Given the description of an element on the screen output the (x, y) to click on. 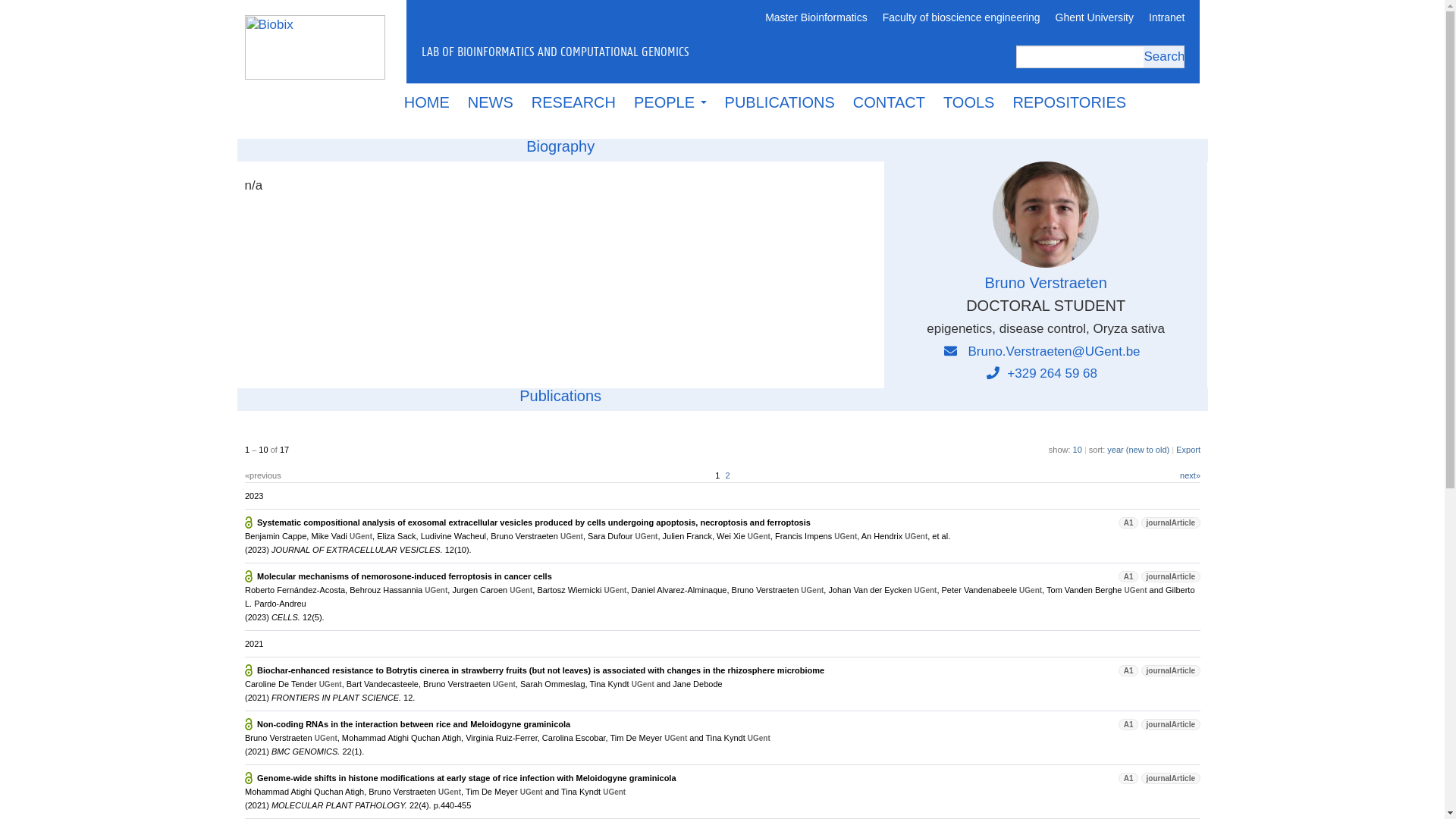
NEWS Element type: text (490, 102)
TOOLS Element type: text (968, 102)
PUBLICATIONS Element type: text (779, 102)
LAB OF BIOINFORMATICS AND COMPUTATIONAL GENOMICS Element type: text (641, 50)
Faculty of bioscience engineering Element type: text (961, 17)
REPOSITORIES Element type: text (1069, 102)
+329 264 59 68 Element type: text (1041, 373)
RESEARCH Element type: text (573, 102)
Bruno.Verstraeten@UGent.be Element type: text (1053, 351)
HOME Element type: text (426, 102)
Master Bioinformatics Element type: text (816, 17)
Search Element type: text (1163, 55)
Ghent University Element type: text (1094, 17)
PEOPLE Element type: text (669, 102)
Intranet Element type: text (1166, 17)
CONTACT Element type: text (889, 102)
